Given the description of an element on the screen output the (x, y) to click on. 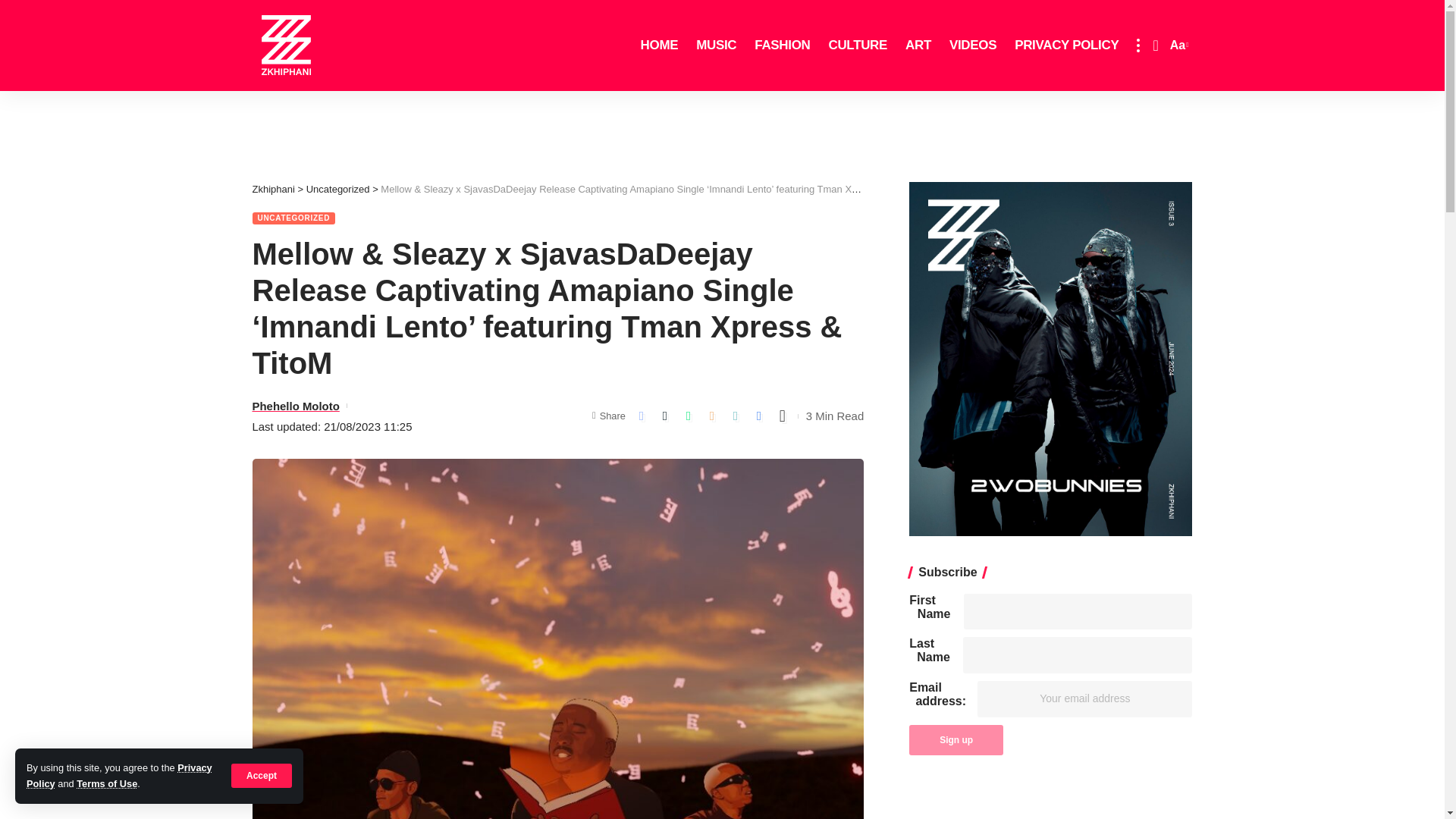
Terms of Use (106, 783)
Privacy Policy (119, 775)
Aa (1177, 45)
PRIVACY POLICY (1066, 45)
Accept (261, 775)
Zkhiphani (285, 45)
Go to the Uncategorized Category archives. (337, 188)
Go to Zkhiphani. (272, 188)
Sign up (955, 739)
